Given the description of an element on the screen output the (x, y) to click on. 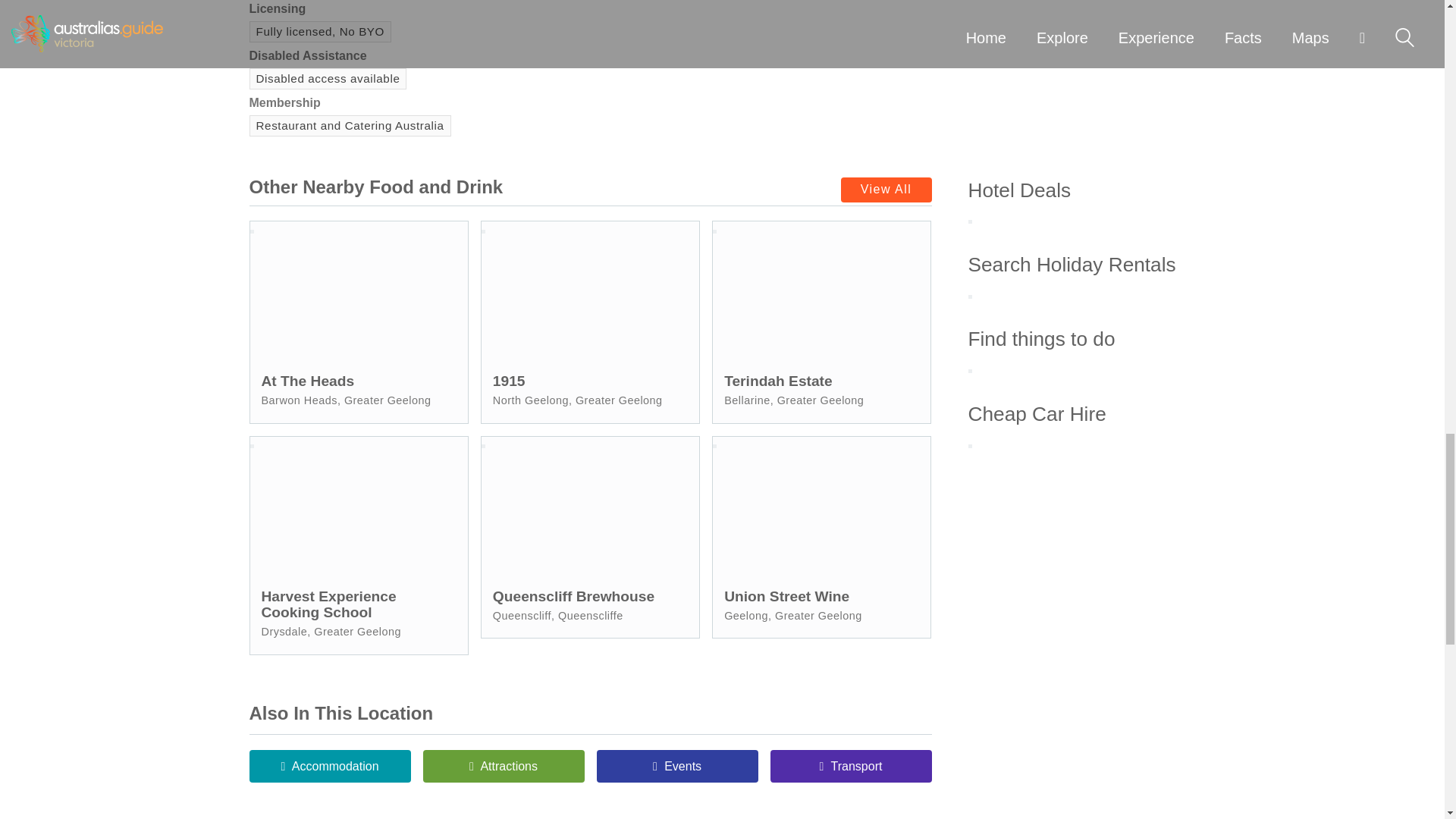
View All (885, 190)
Accommodation (329, 766)
